Given the description of an element on the screen output the (x, y) to click on. 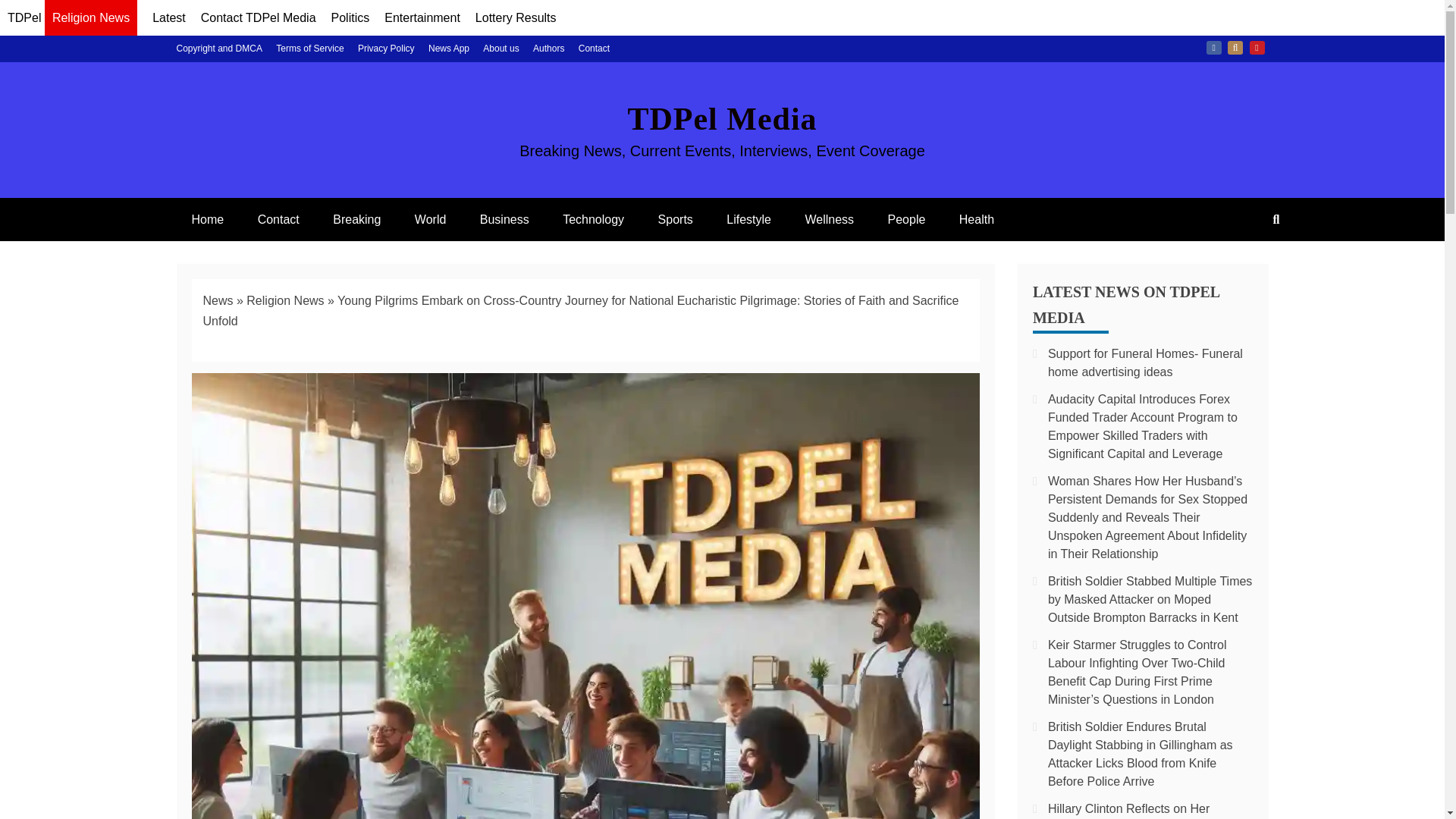
Religion News (284, 300)
Breaking (356, 219)
News App (448, 48)
Sports (675, 219)
Lottery Results (516, 17)
Technology (593, 219)
Terms of Service (309, 48)
Latest (169, 17)
Business (504, 219)
World (429, 219)
Politics (350, 17)
Wellness (829, 219)
About us (500, 48)
Entertainment (422, 17)
